Given the description of an element on the screen output the (x, y) to click on. 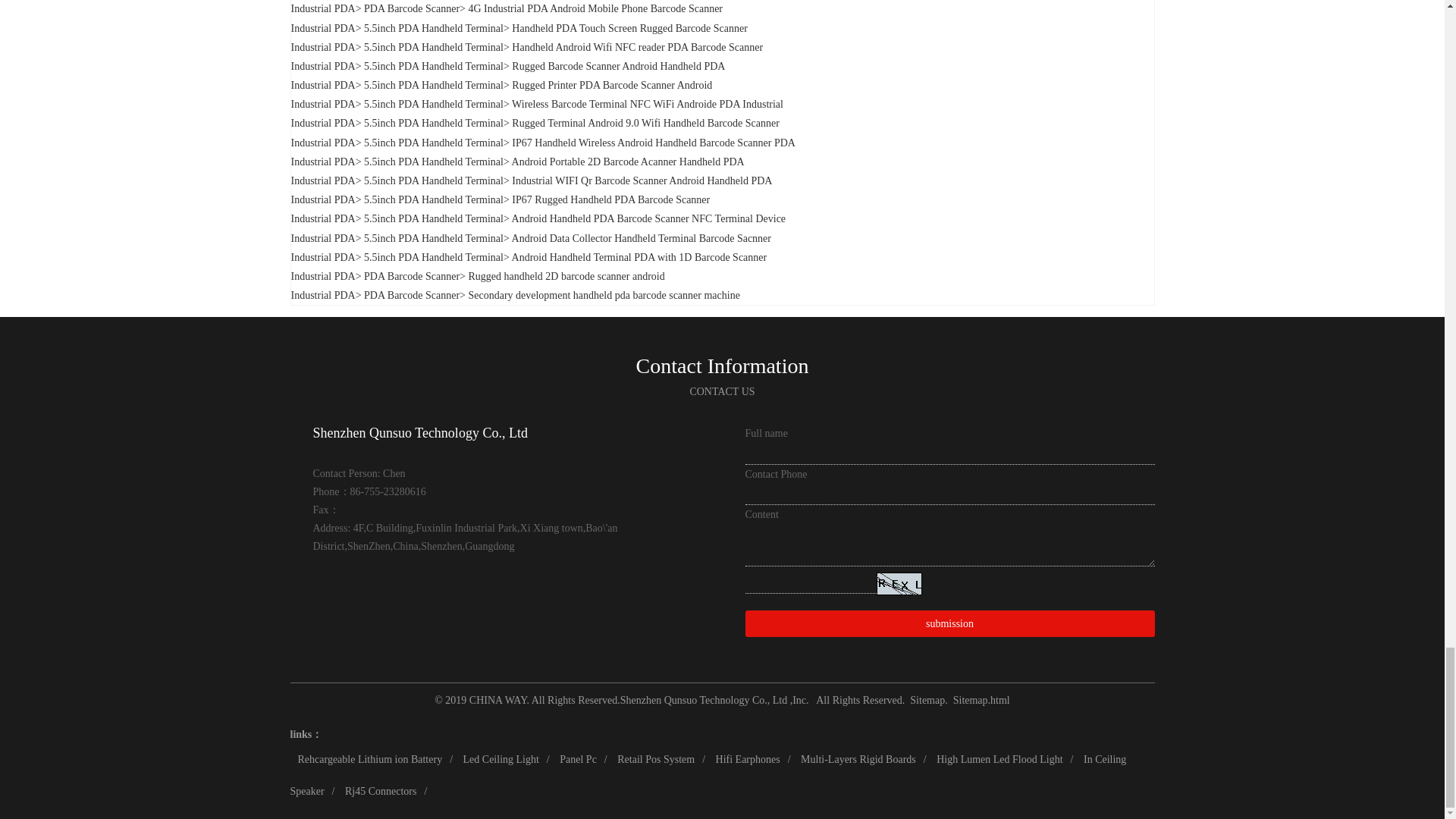
submission (949, 623)
